Given the description of an element on the screen output the (x, y) to click on. 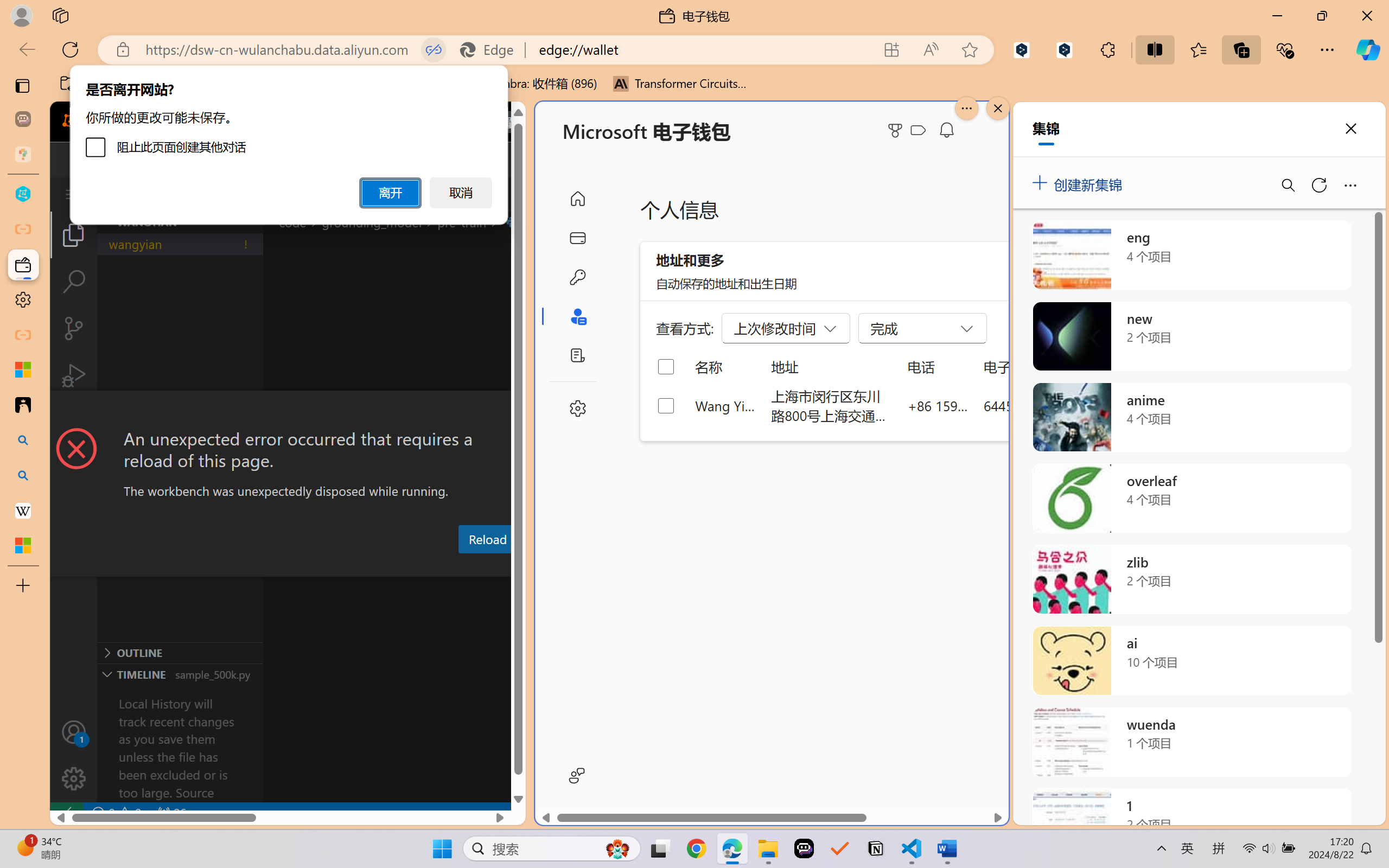
Close Dialog (520, 410)
Run and Debug (Ctrl+Shift+D) (73, 375)
644553698@qq.com (1043, 405)
Manage (73, 755)
Earth - Wikipedia (22, 510)
Transformer Circuits Thread (680, 83)
